Given the description of an element on the screen output the (x, y) to click on. 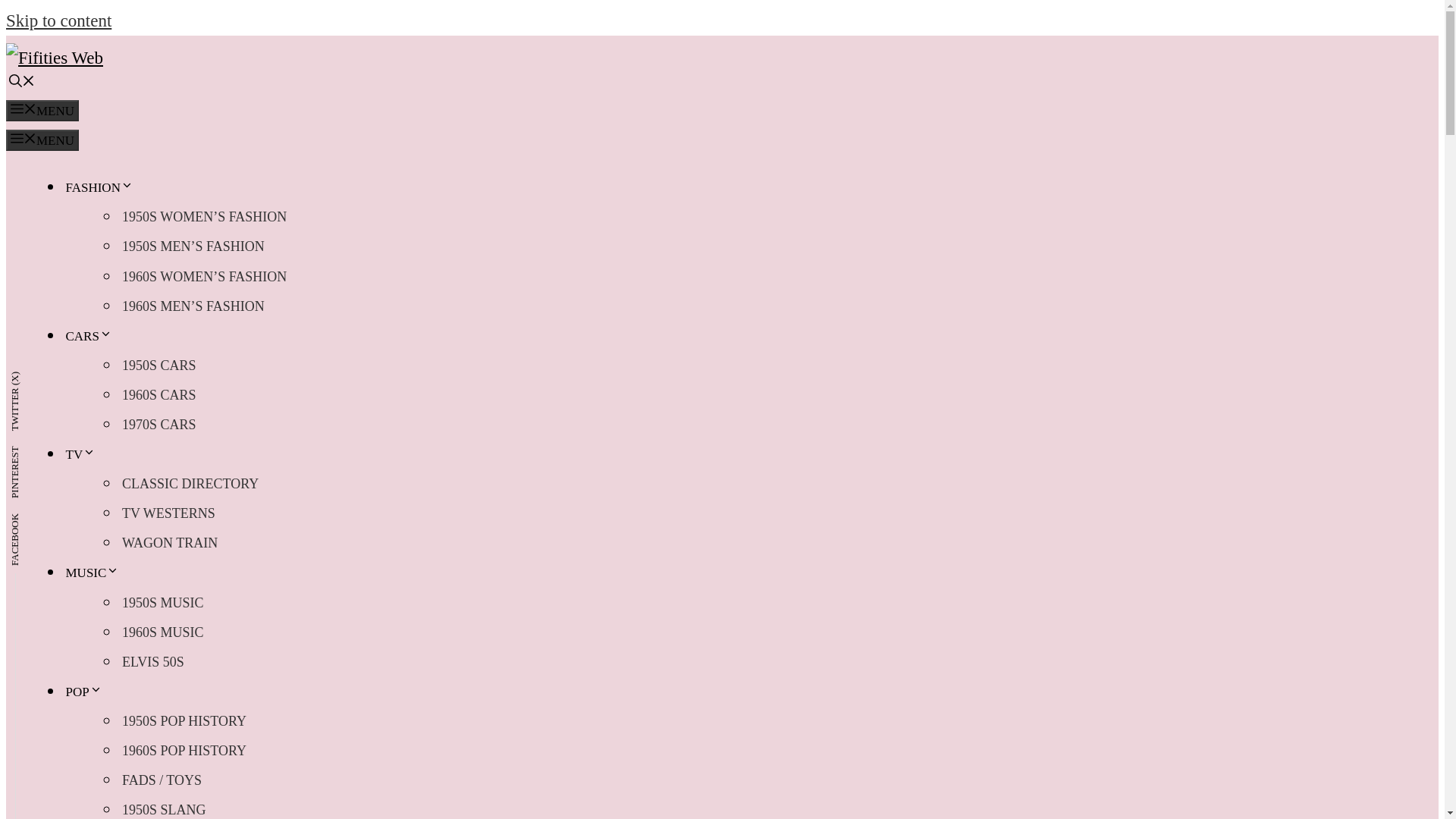
TV WESTERNS (168, 512)
1970S CARS (159, 424)
CLASSIC DIRECTORY (190, 483)
1950S SLANG (164, 806)
TV (81, 454)
WAGON TRAIN (170, 542)
1950S MUSIC (162, 603)
MENU (41, 110)
1960S MUSIC (162, 632)
FASHION (100, 187)
